Given the description of an element on the screen output the (x, y) to click on. 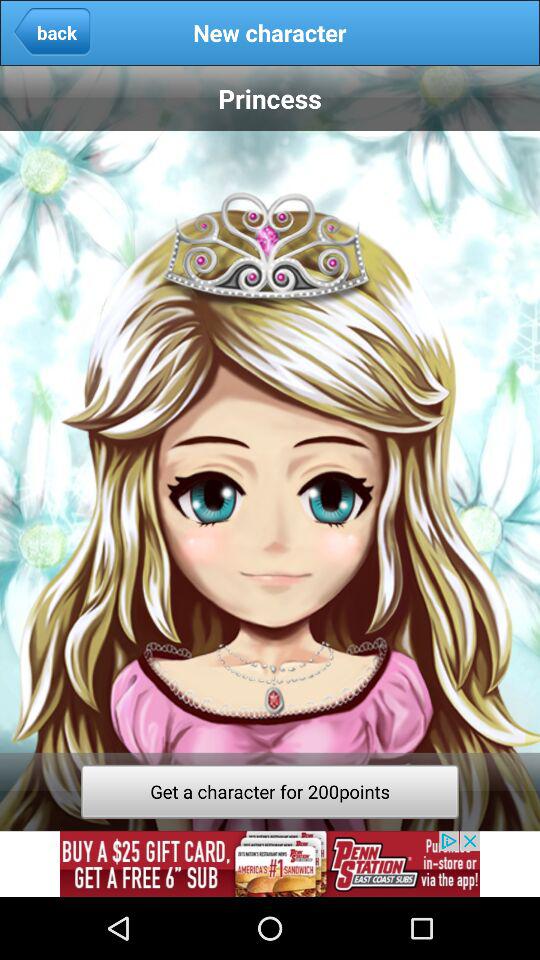
click on advertisement below (270, 864)
